Given the description of an element on the screen output the (x, y) to click on. 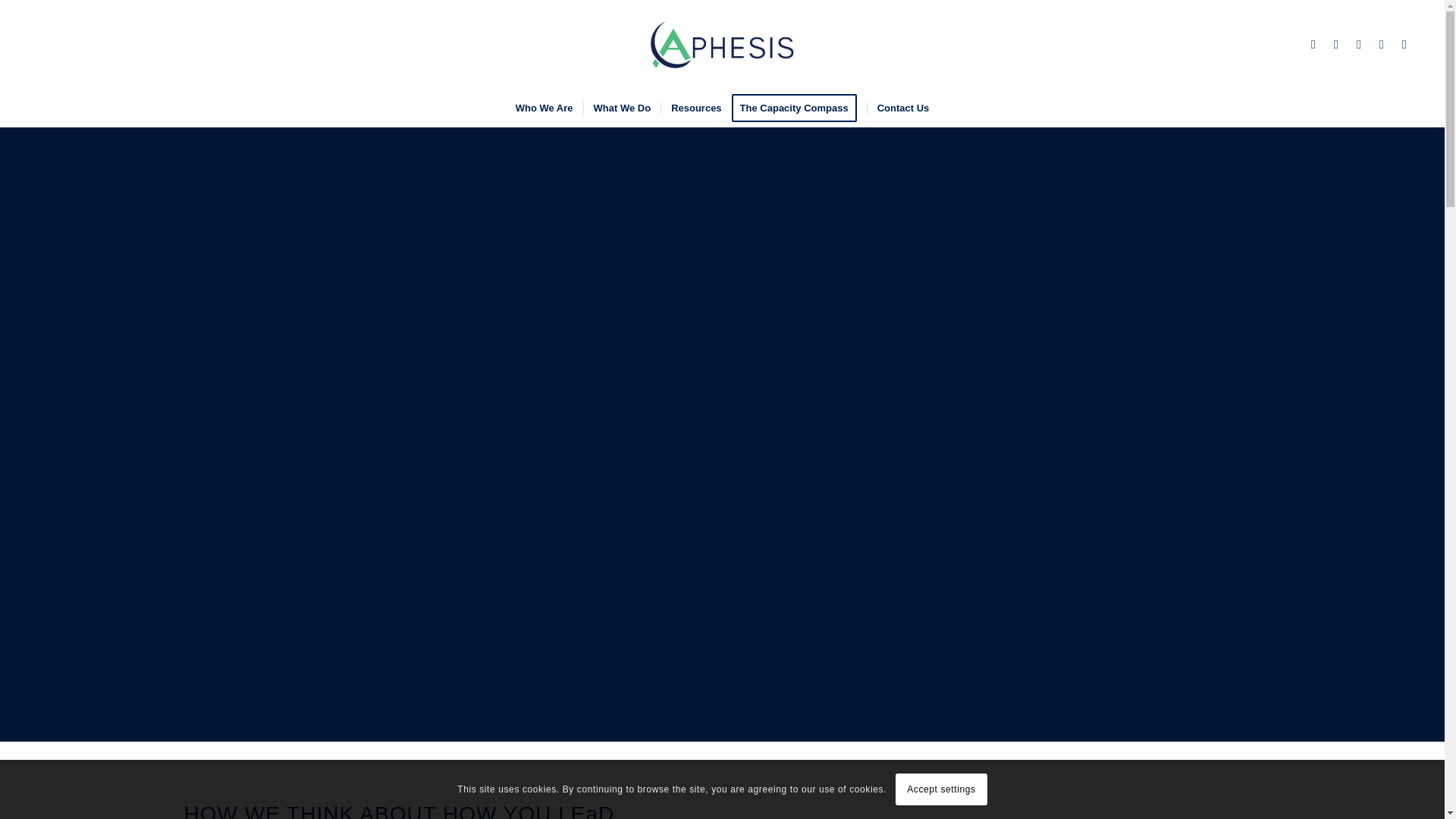
What We Do (622, 108)
Resources (695, 108)
LinkedIn (1312, 44)
Facebook (1381, 44)
Contact Us (902, 108)
The Capacity Compass (799, 108)
Instagram (1359, 44)
Youtube (1404, 44)
Twitter (1336, 44)
Who We Are (544, 108)
